Given the description of an element on the screen output the (x, y) to click on. 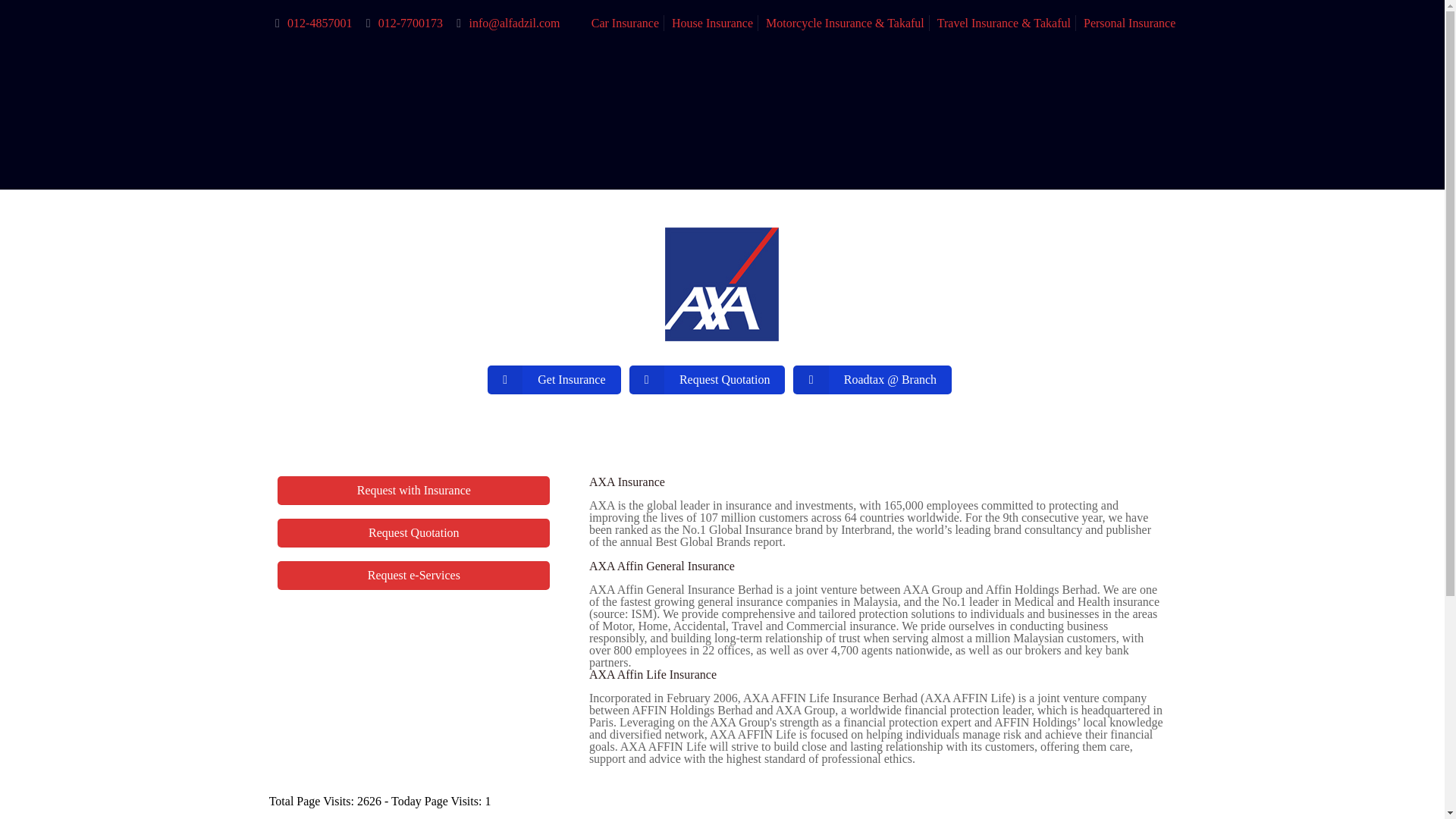
012-7700173 (410, 22)
Car Insurance (625, 22)
House Insurance (711, 22)
Get Insurance (554, 379)
Personal Insurance (1128, 22)
012-4857001 (319, 22)
